Given the description of an element on the screen output the (x, y) to click on. 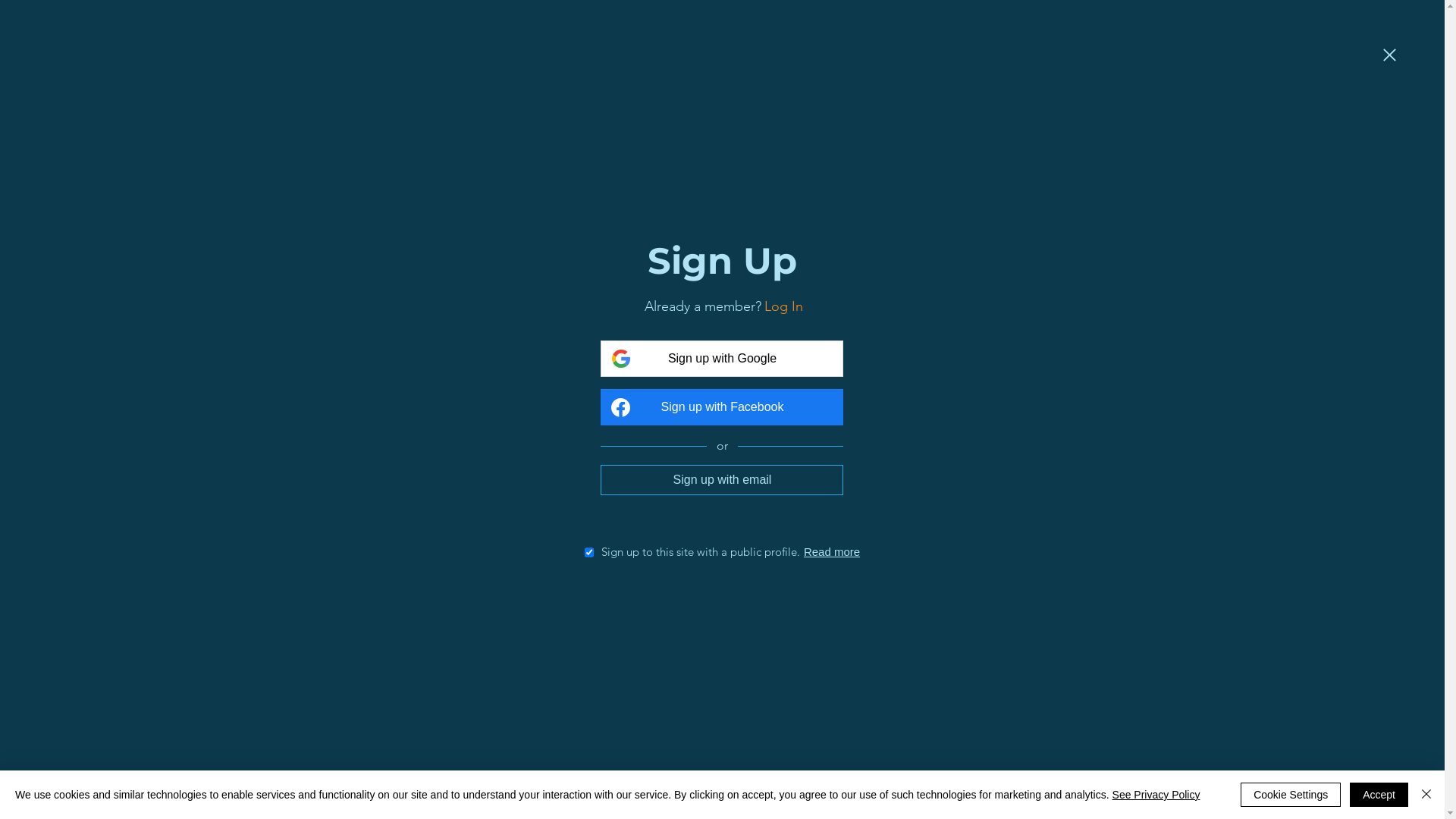
See Privacy Policy Element type: text (1156, 794)
Sign up with Facebook Element type: text (721, 407)
Accept Element type: text (1378, 794)
Cookie Settings Element type: text (1290, 794)
Sign up with Google Element type: text (721, 358)
Log In Element type: text (783, 306)
Sign up with email Element type: text (721, 479)
Read more Element type: text (831, 551)
